Given the description of an element on the screen output the (x, y) to click on. 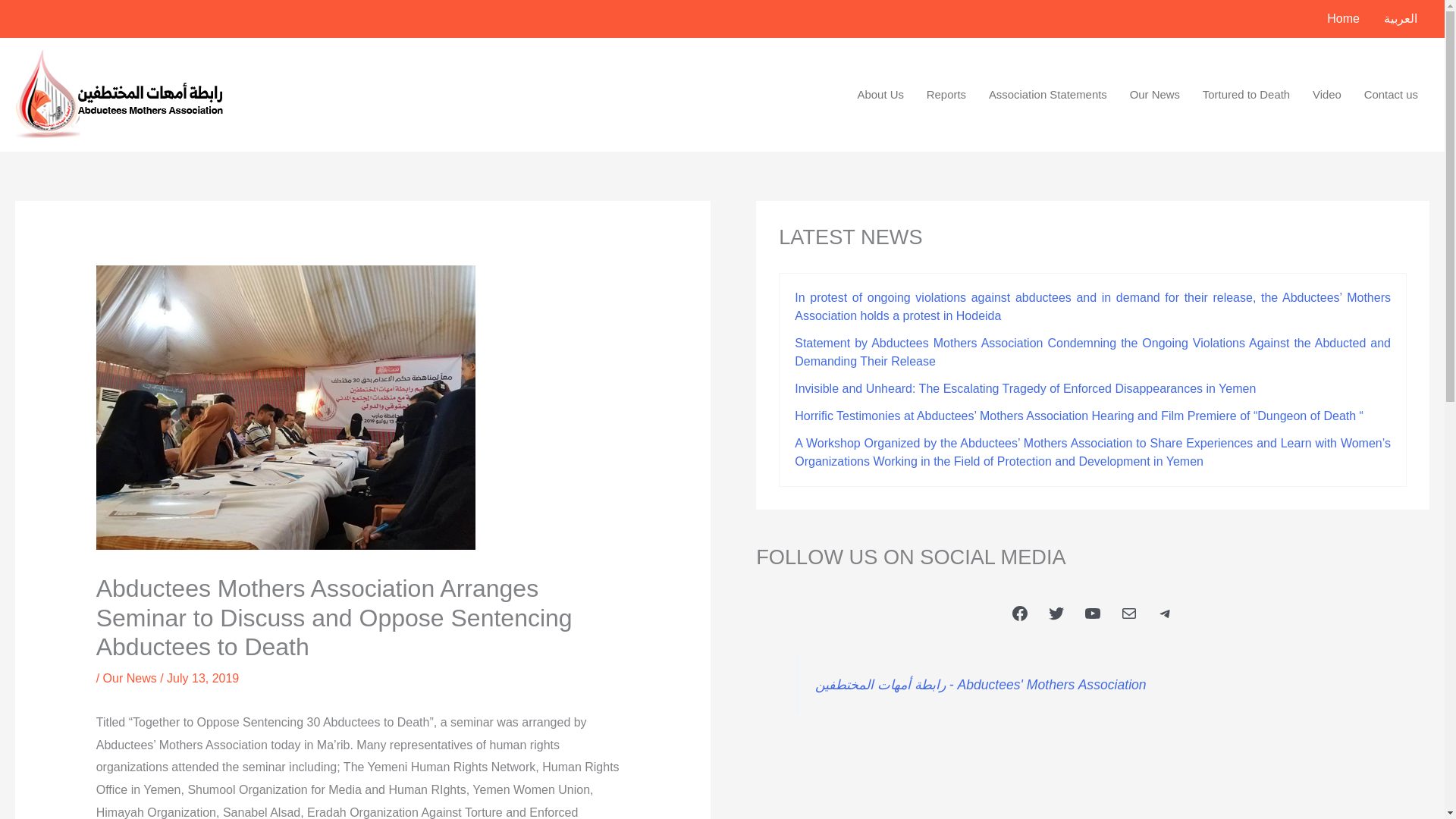
Our News (130, 677)
Reports (945, 94)
Tortured to Death (1246, 94)
Home (1342, 18)
Facebook (1019, 613)
Mail (1128, 613)
Twitter (1055, 613)
Video (1326, 94)
Telegram (1165, 613)
